Given the description of an element on the screen output the (x, y) to click on. 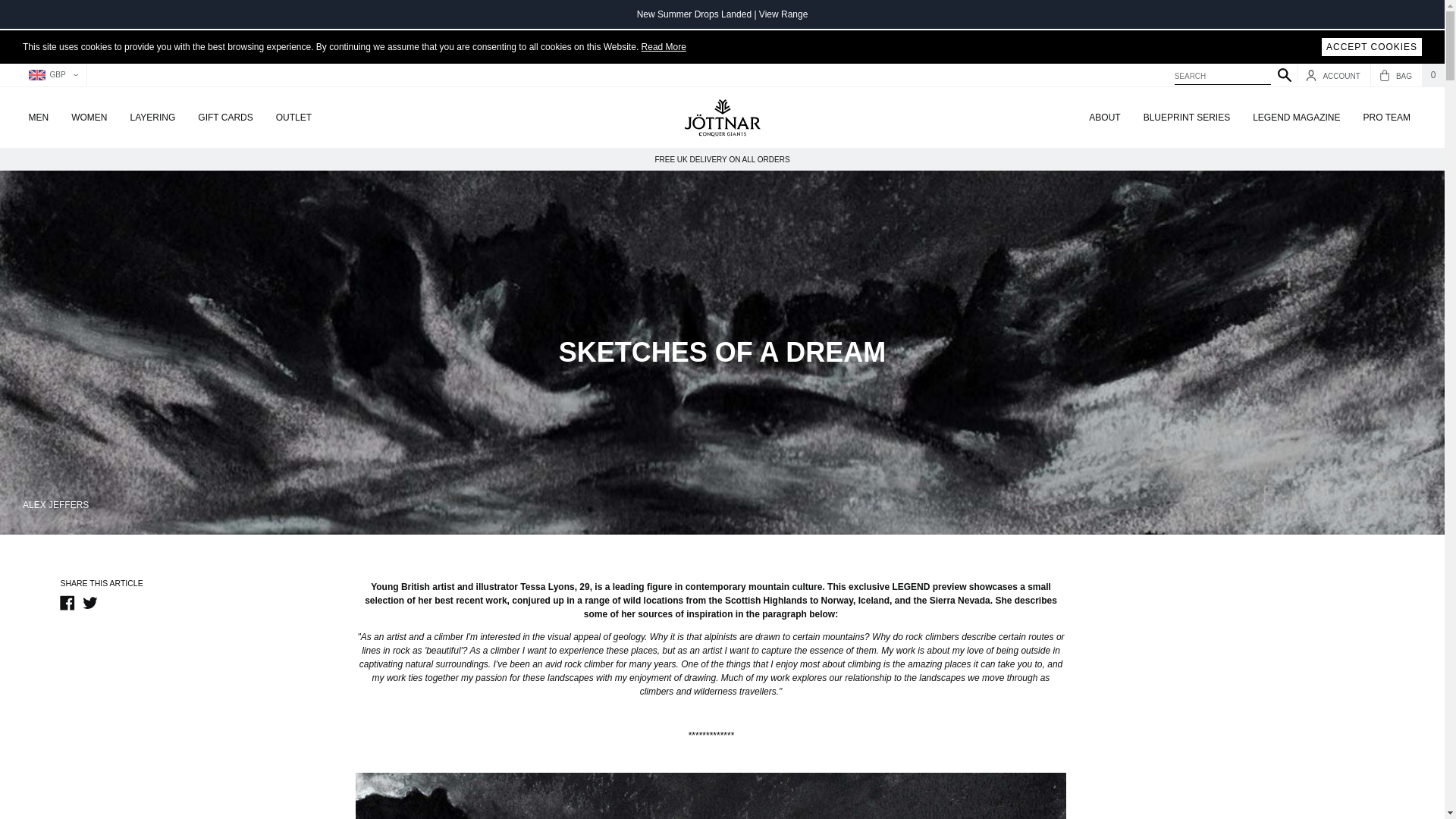
Read More (663, 46)
ACCEPT COOKIES (1372, 46)
